Given the description of an element on the screen output the (x, y) to click on. 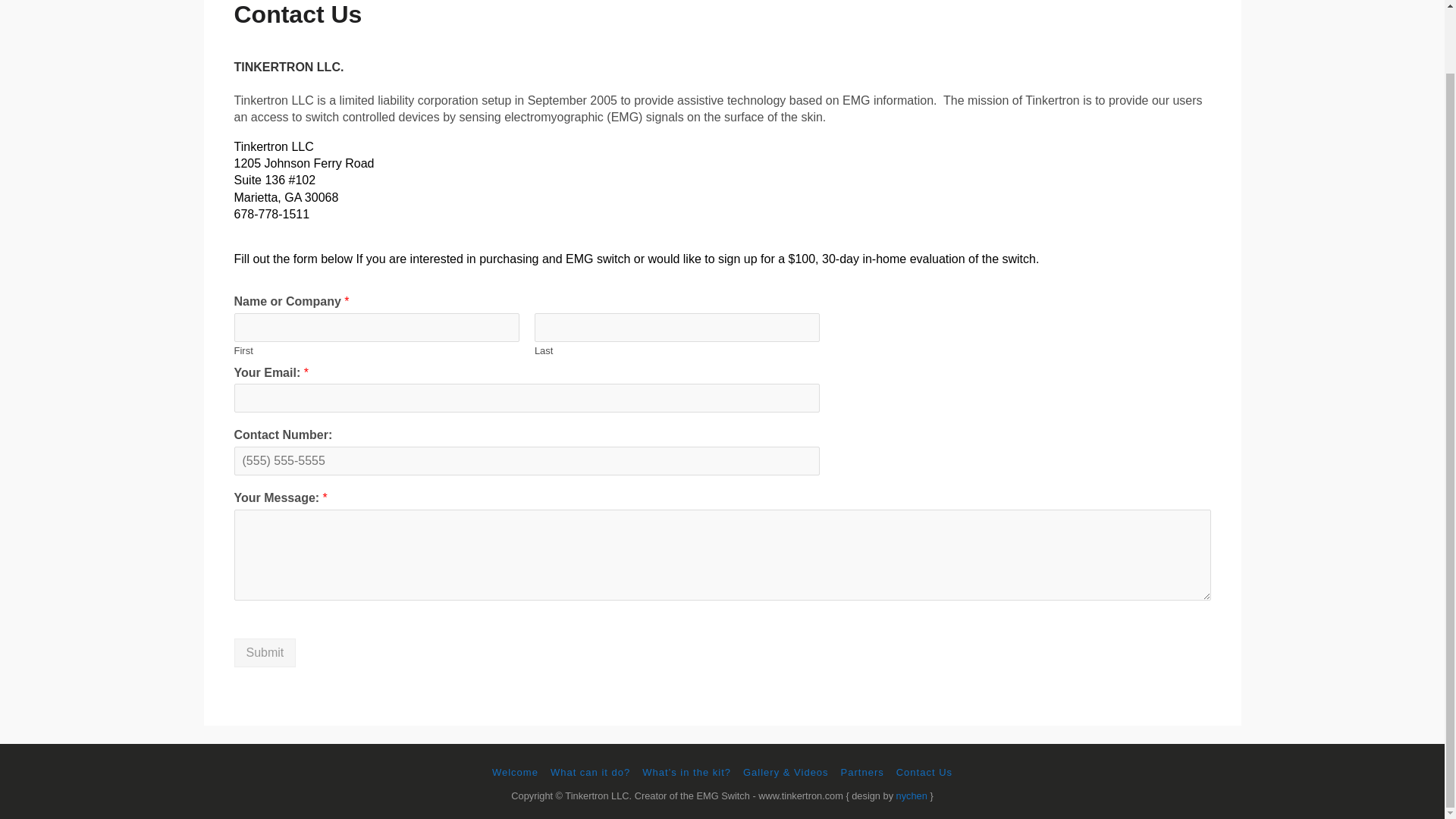
What can it do? (590, 772)
Partners (862, 772)
Welcome (515, 772)
Submit (263, 652)
Contact Us (924, 772)
nychen (911, 795)
